Given the description of an element on the screen output the (x, y) to click on. 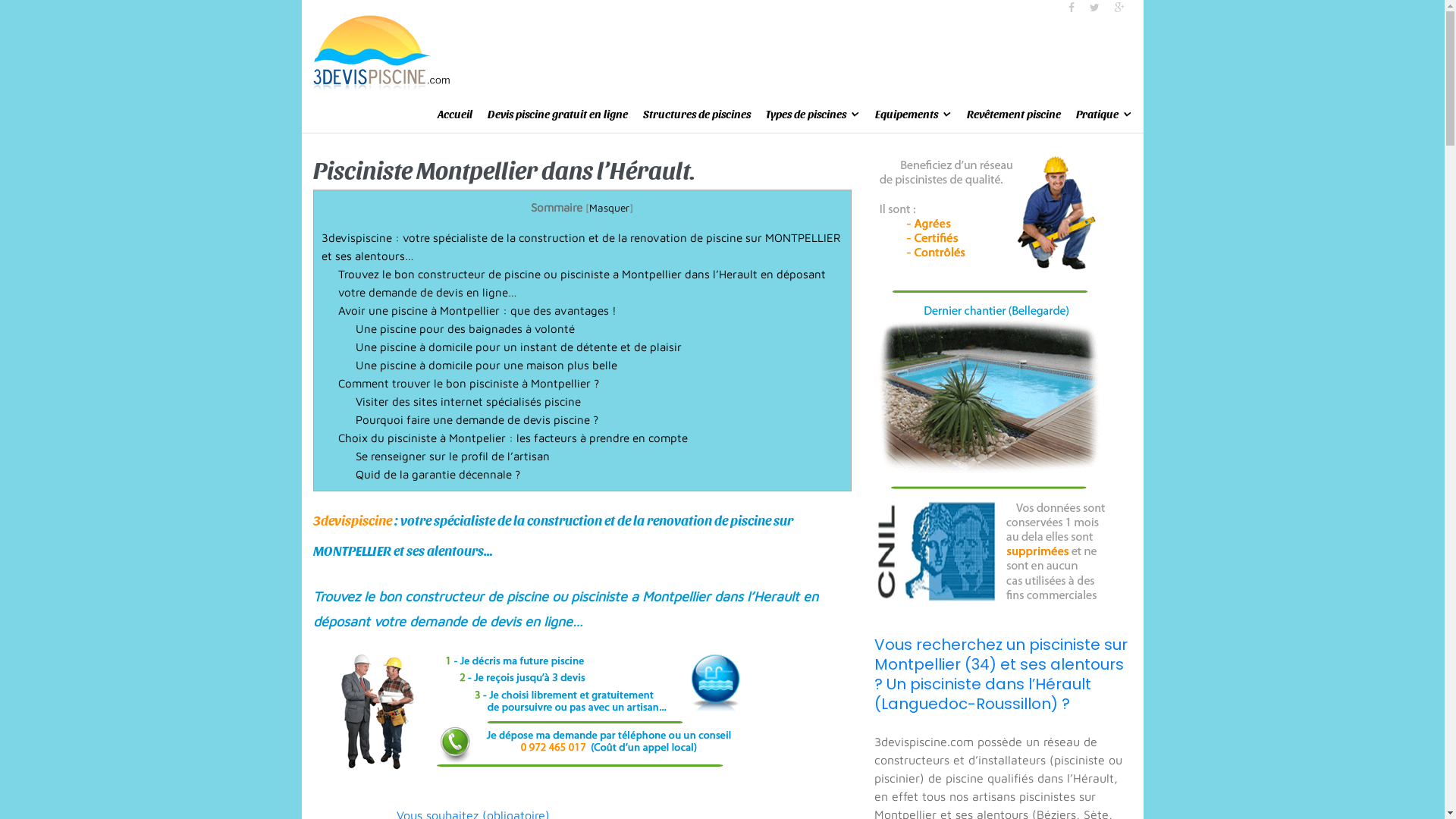
Equipements Element type: text (913, 113)
Accueil Element type: text (453, 113)
Structures de piscines Element type: text (696, 113)
Types de piscines Element type: text (812, 113)
Pourquoi faire une demande de devis piscine ? Element type: text (476, 419)
Skip to content Element type: text (0, 0)
Masquer Element type: text (609, 207)
Pratique Element type: text (1103, 113)
Devis piscine gratuit en ligne Element type: text (556, 113)
